Given the description of an element on the screen output the (x, y) to click on. 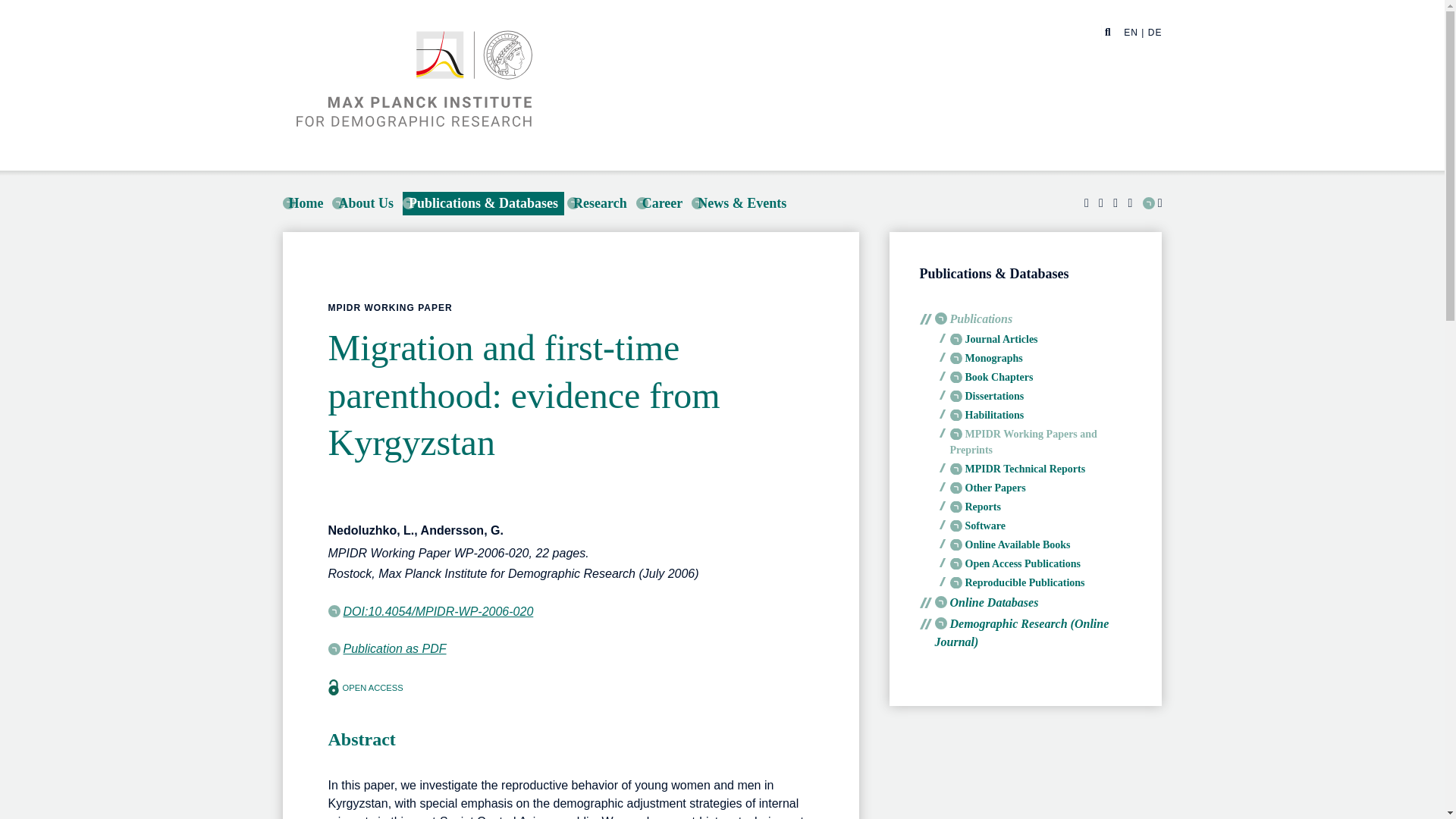
RSS Feed (1151, 202)
Home (305, 203)
DE (1154, 32)
About Us (364, 203)
